Given the description of an element on the screen output the (x, y) to click on. 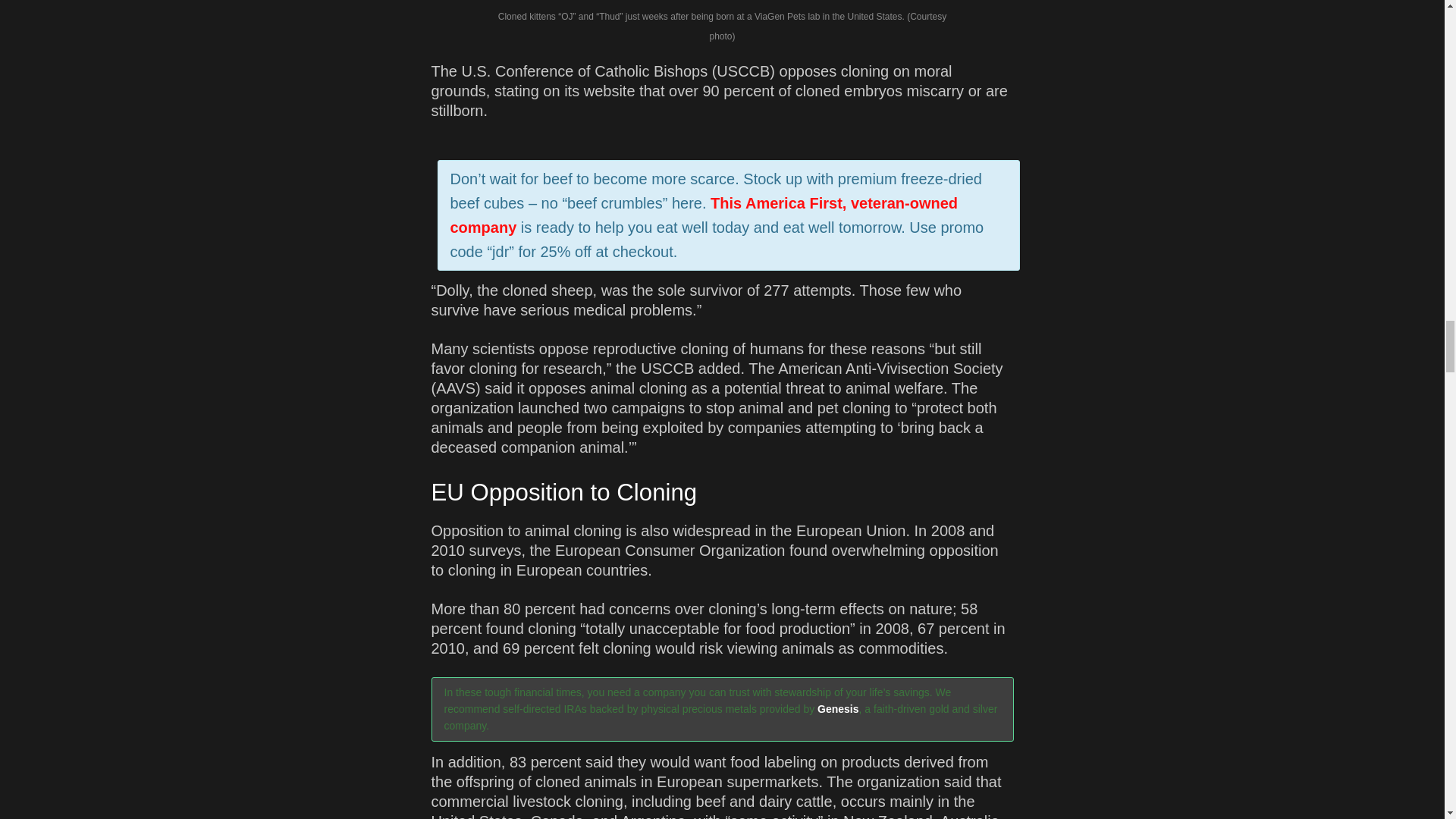
This America First, veteran-owned company (703, 214)
Genesis (837, 708)
